Given the description of an element on the screen output the (x, y) to click on. 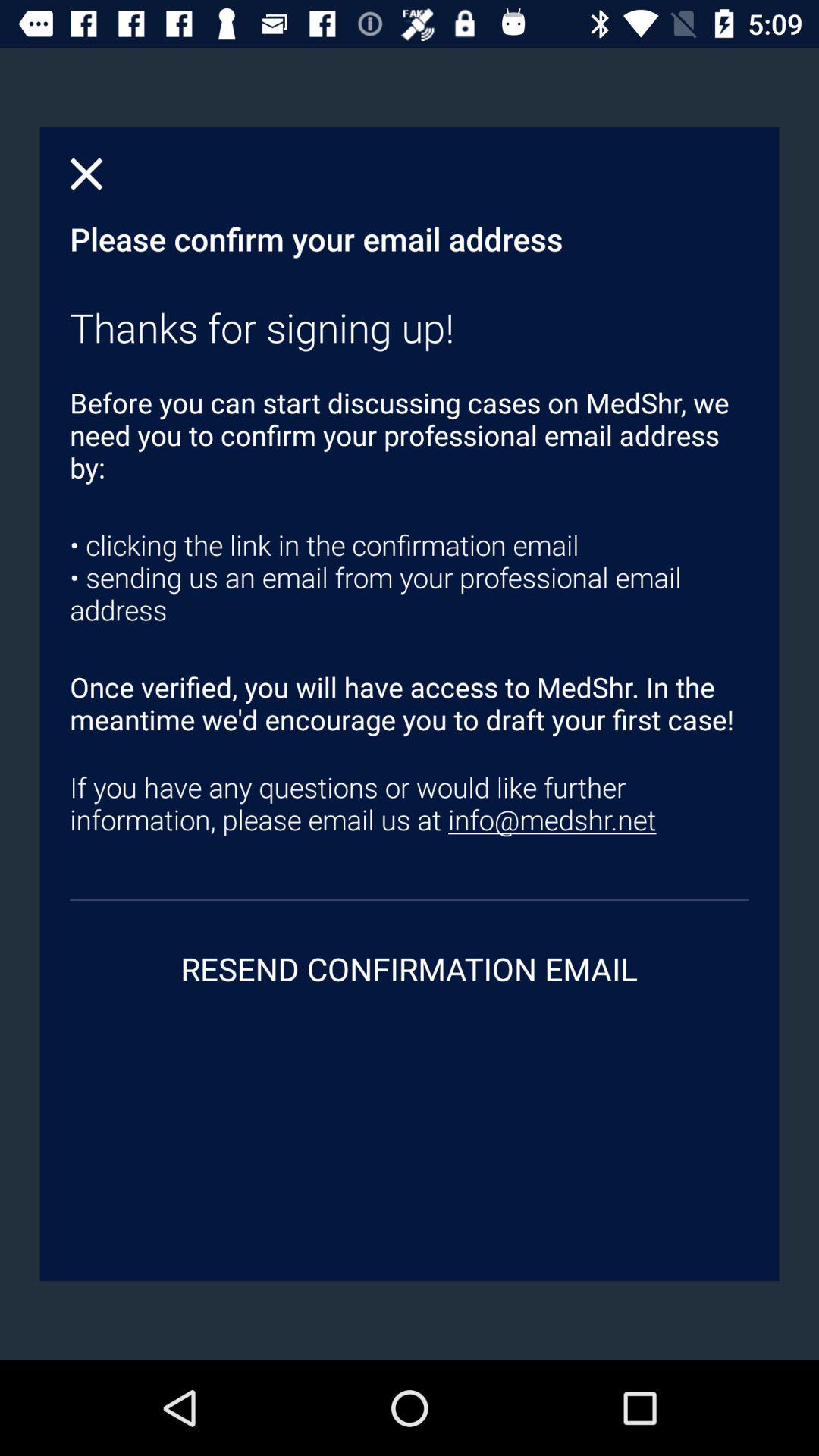
press icon at the top left corner (85, 173)
